Given the description of an element on the screen output the (x, y) to click on. 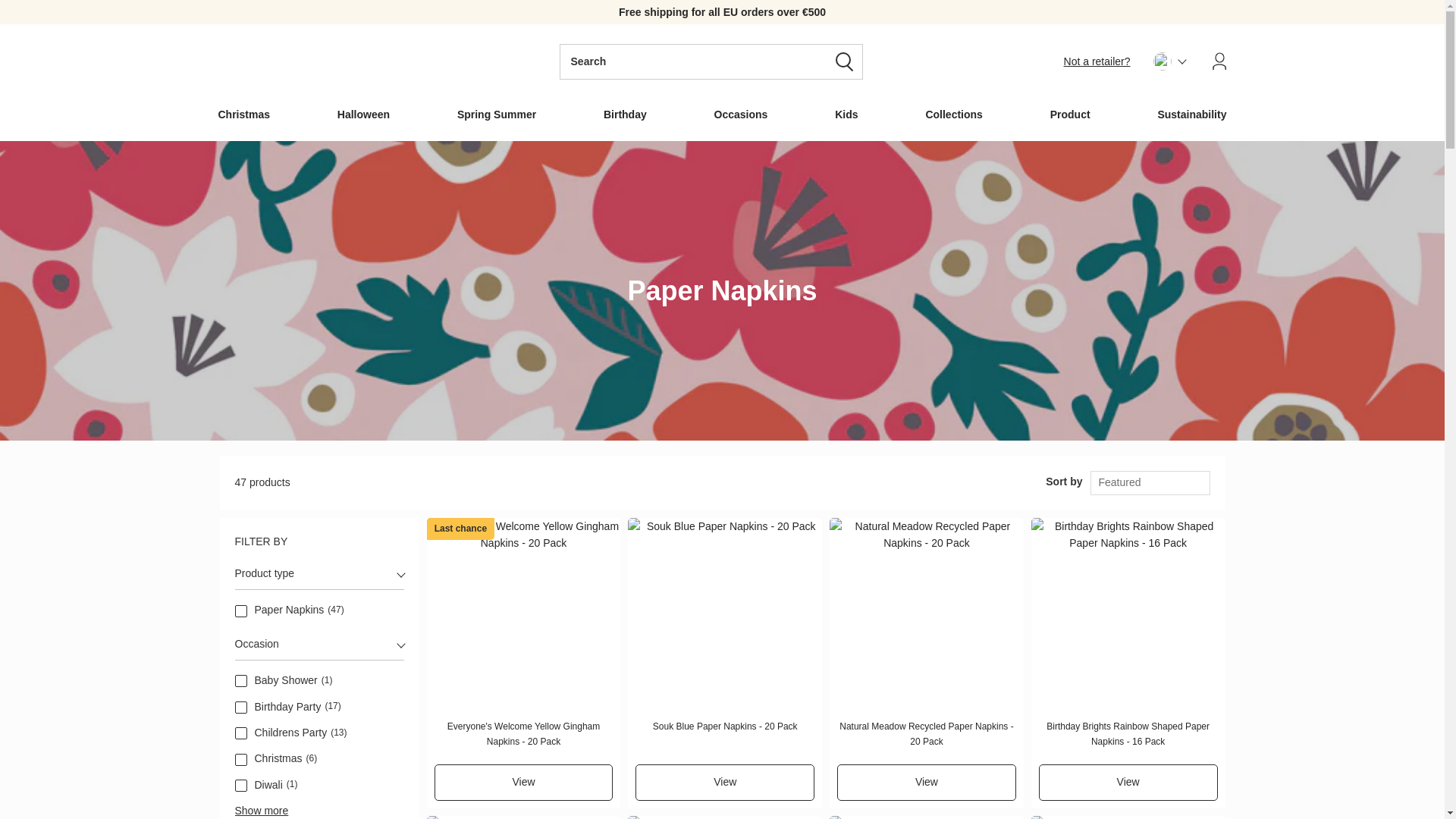
Birthday Party (240, 707)
Childrens Party (240, 733)
Diwali (240, 785)
Paper Napkins (240, 611)
Baby Shower (240, 680)
Christmas (240, 759)
